Given the description of an element on the screen output the (x, y) to click on. 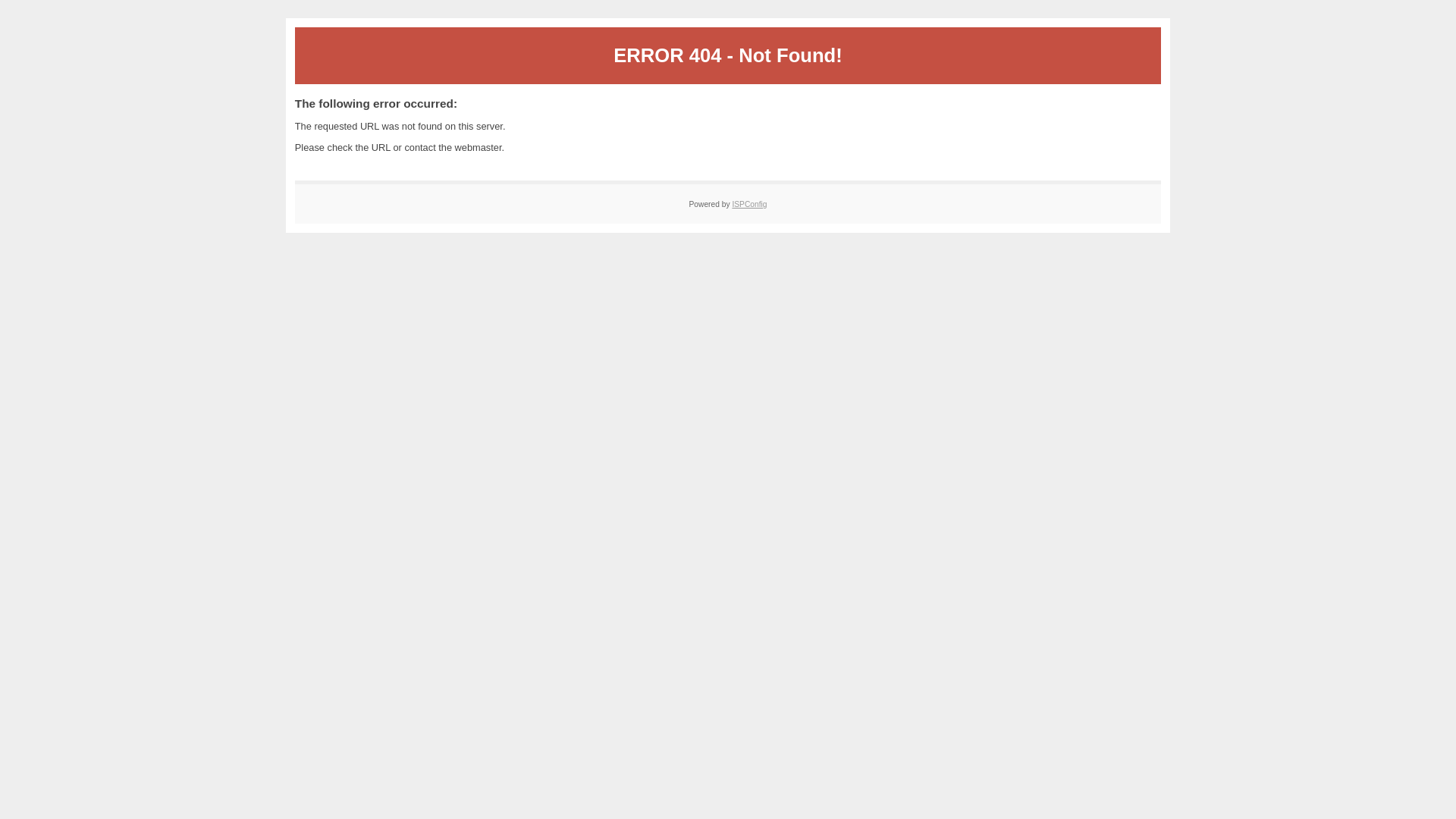
ISPConfig Element type: text (748, 204)
